Given the description of an element on the screen output the (x, y) to click on. 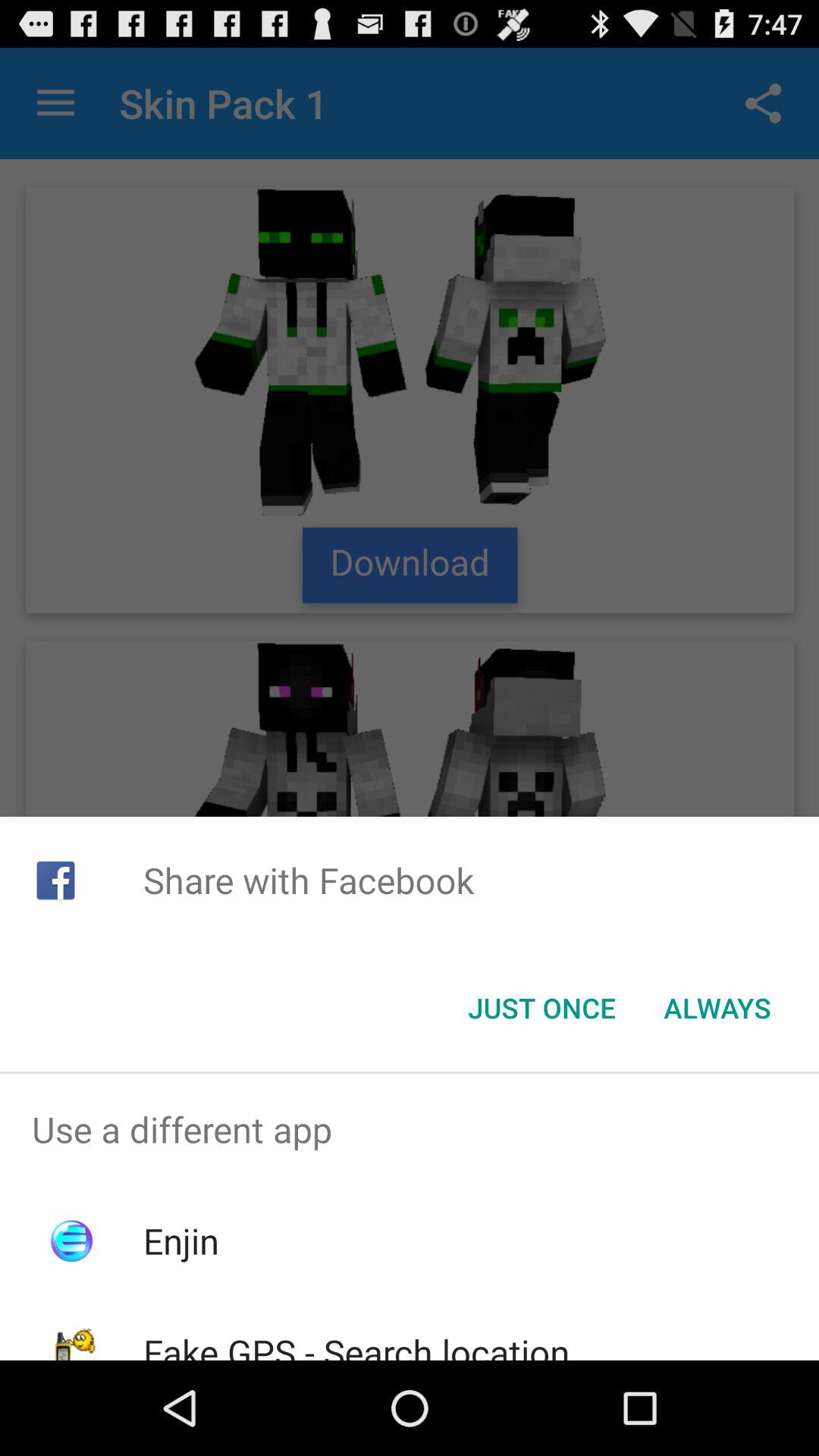
select button to the right of just once button (717, 1007)
